Given the description of an element on the screen output the (x, y) to click on. 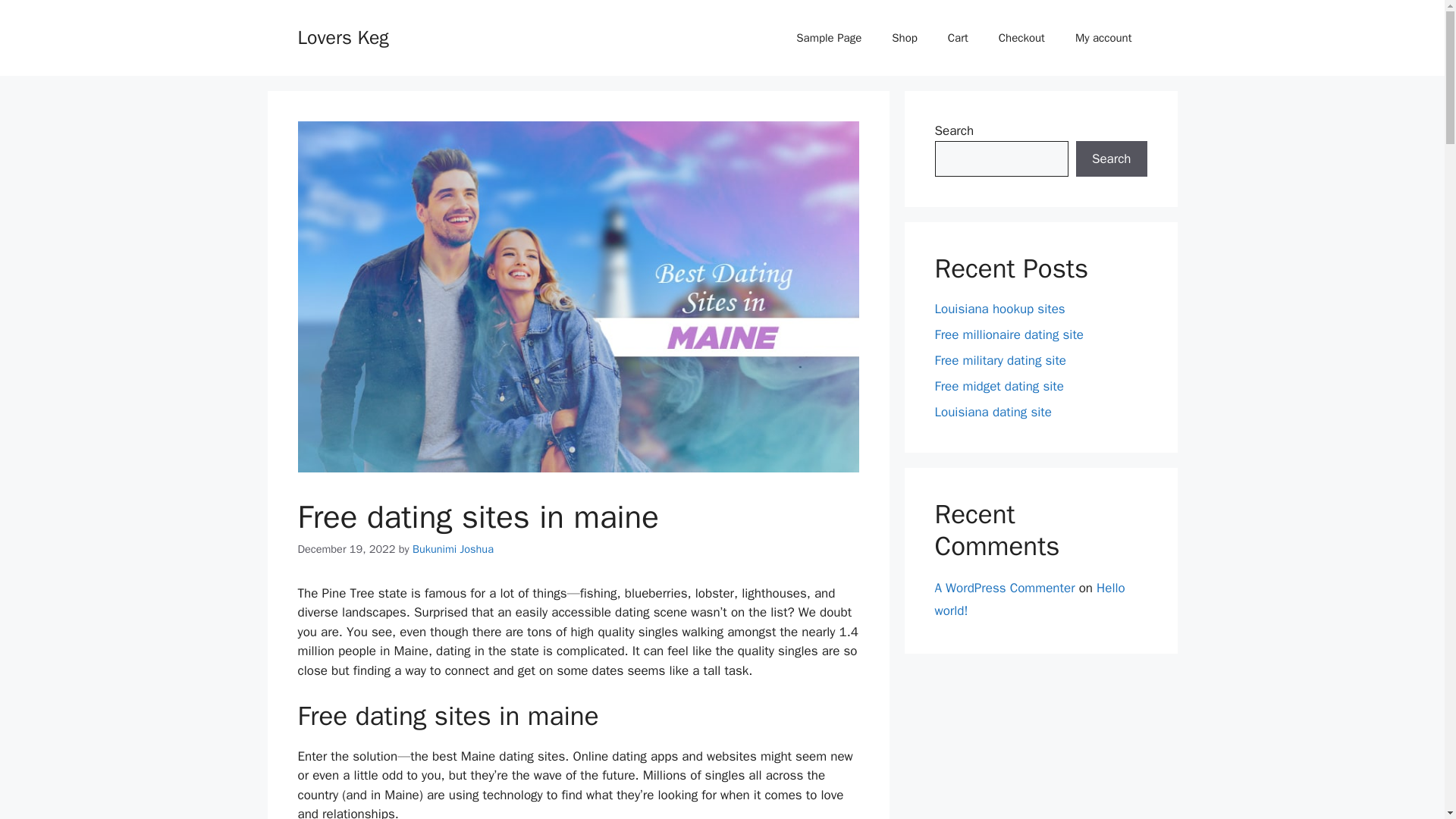
View all posts by Bukunimi Joshua (452, 549)
Hello world! (1029, 599)
Bukunimi Joshua (452, 549)
My account (1103, 37)
Shop (904, 37)
Cart (958, 37)
Free military dating site (999, 360)
Louisiana dating site (992, 412)
Louisiana hookup sites (999, 308)
Checkout (1021, 37)
